Given the description of an element on the screen output the (x, y) to click on. 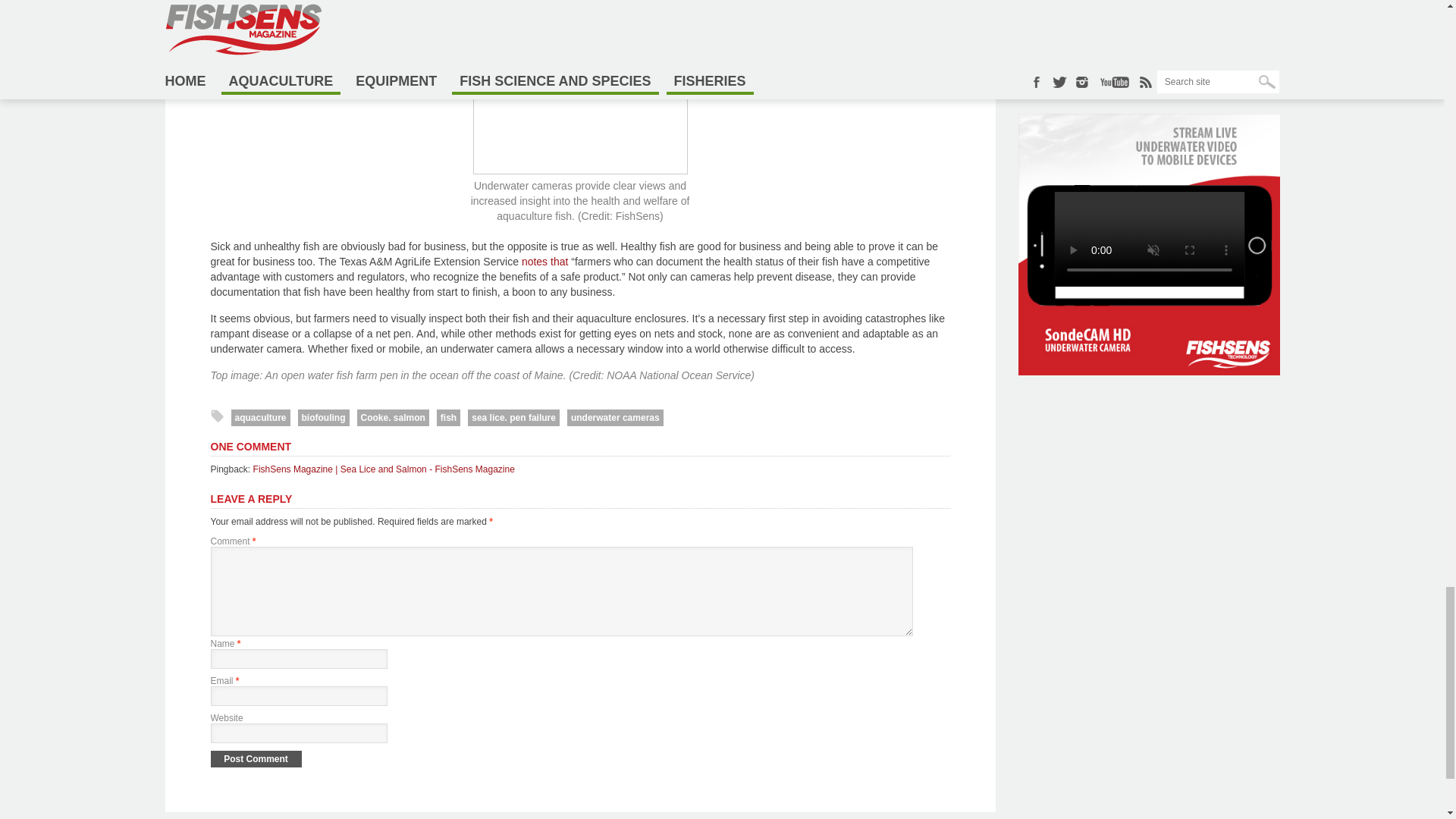
aquaculture (259, 417)
biofouling (323, 417)
notes that (542, 261)
sea lice. pen failure (513, 417)
underwater cameras (615, 417)
fish (448, 417)
Post Comment (256, 759)
Cooke. salmon (392, 417)
Post Comment (256, 759)
